Given the description of an element on the screen output the (x, y) to click on. 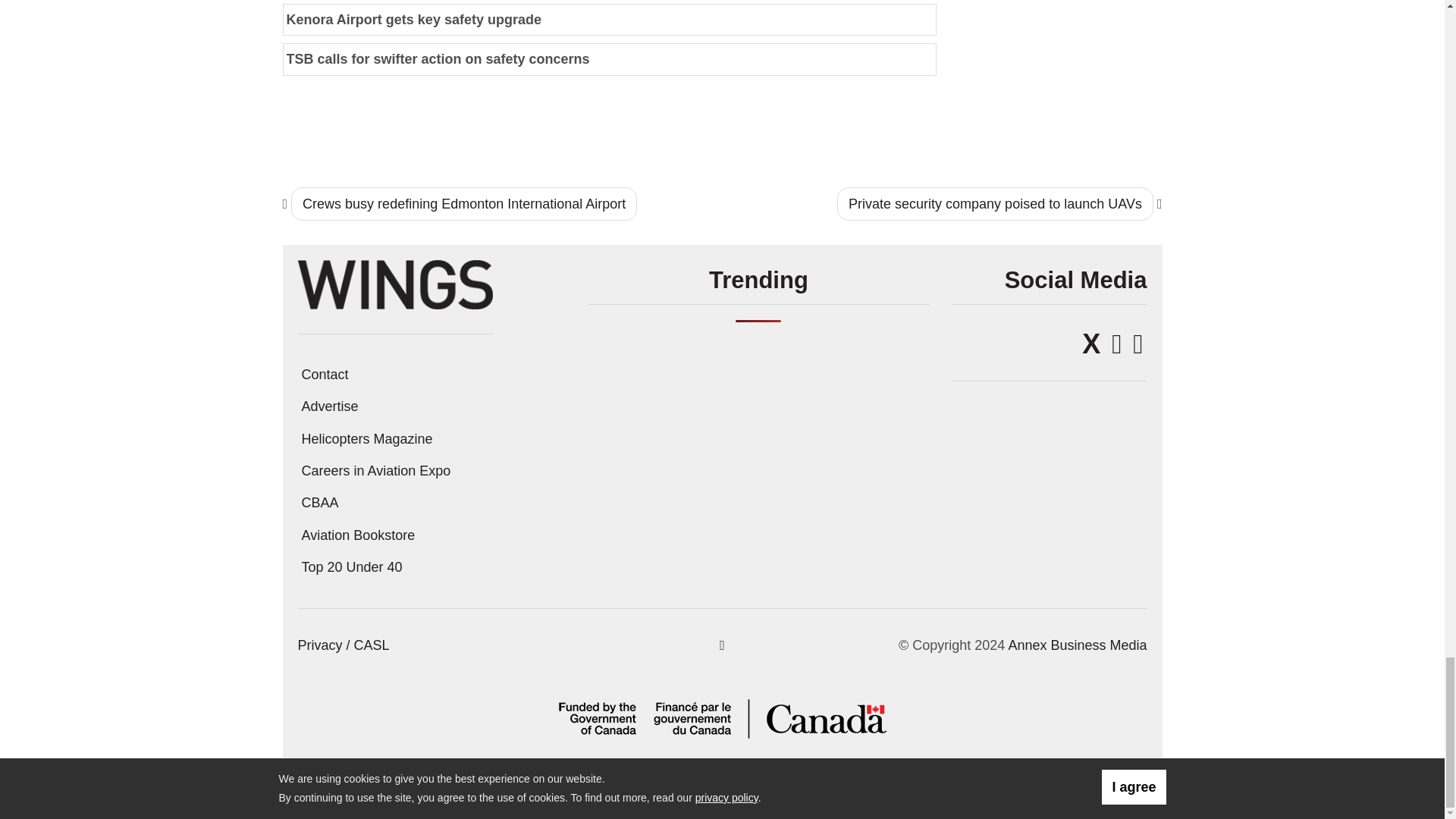
Wings Magazine (395, 283)
Annex Business Media (1077, 645)
